Given the description of an element on the screen output the (x, y) to click on. 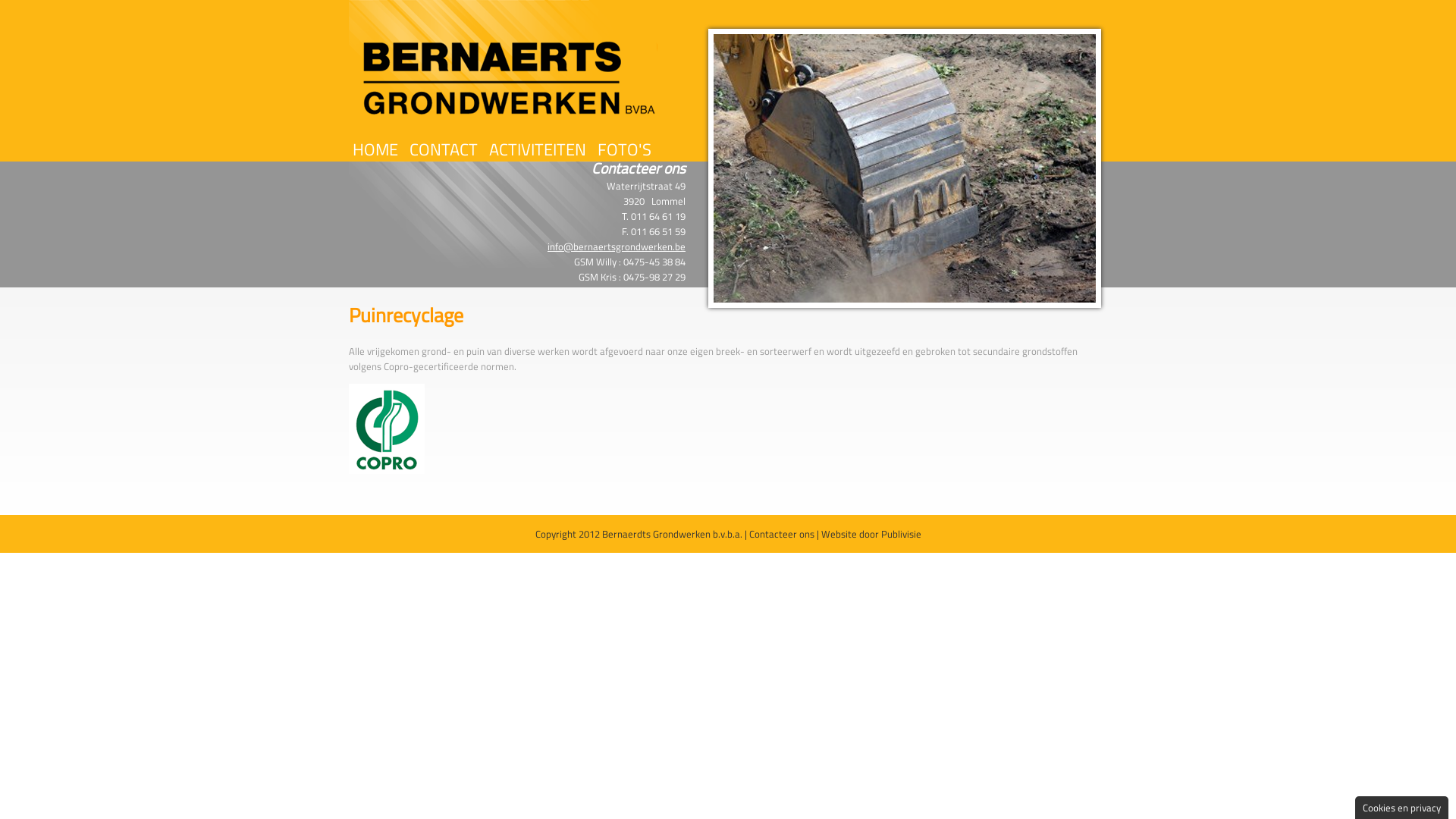
Overslaan en naar de algemene inhoud gaan Element type: text (95, 0)
HOME Element type: text (374, 149)
Contacteer ons Element type: text (781, 533)
ACTIVITEITEN Element type: text (537, 149)
Publivisie Element type: text (901, 533)
CONTACT Element type: text (443, 149)
FOTO'S Element type: text (624, 149)
info@bernaertsgrondwerken.be Element type: text (616, 246)
